Given the description of an element on the screen output the (x, y) to click on. 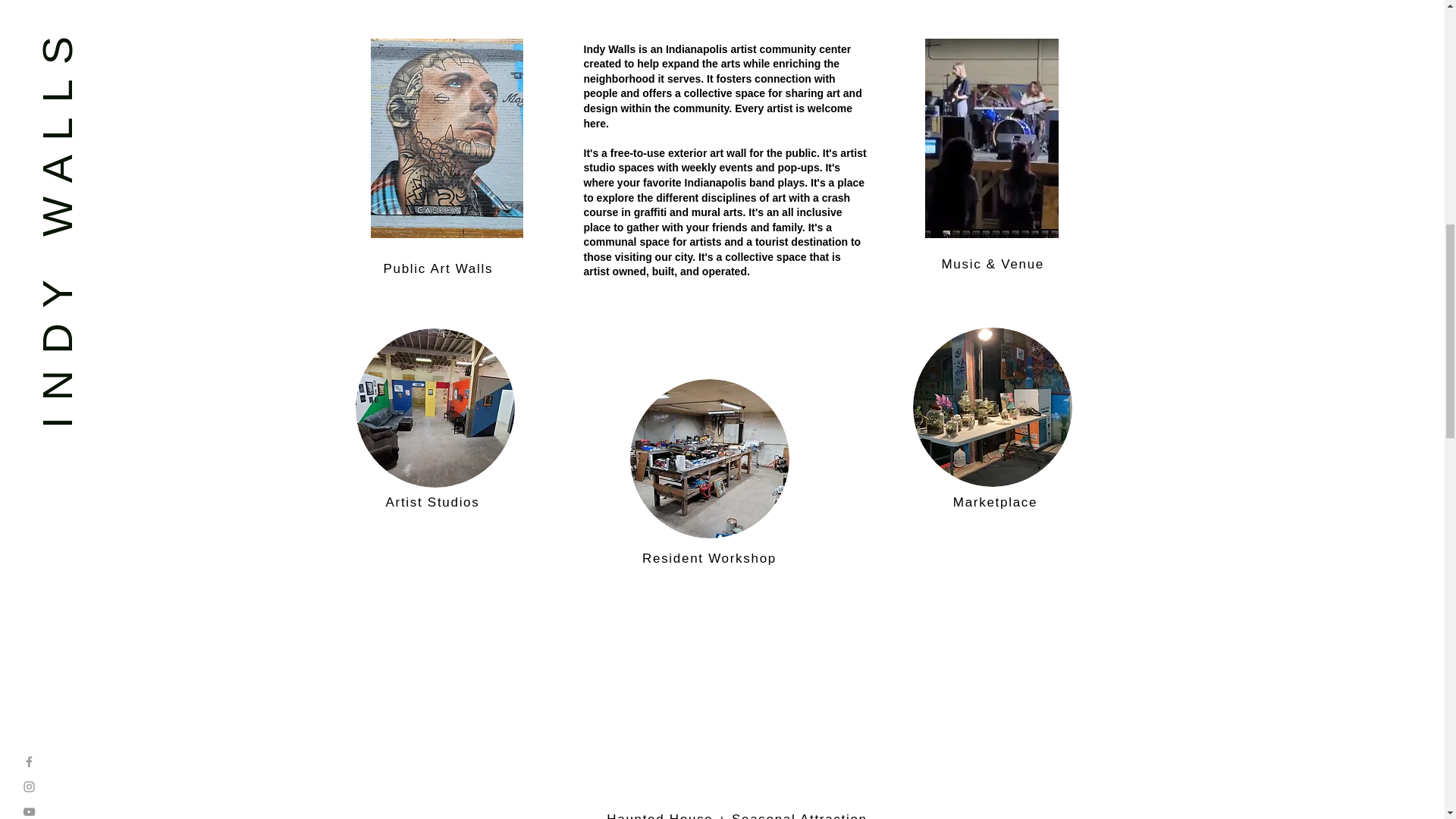
the tools that were stolen from us. (708, 458)
the labor and materials that were stolen from us. (434, 407)
